Given the description of an element on the screen output the (x, y) to click on. 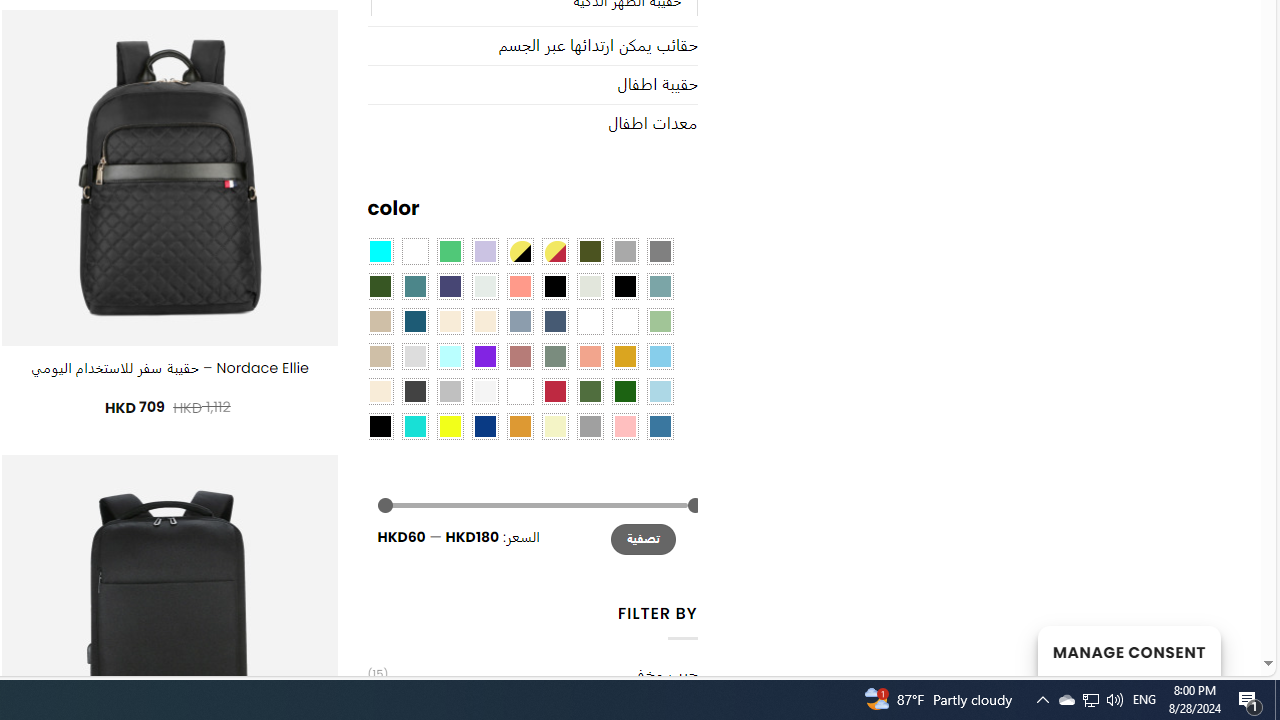
Brownie (379, 321)
All Black (554, 285)
Kelp (589, 321)
Blue Sage (659, 285)
Purple (484, 355)
Yellow-Red (554, 251)
Clear (414, 251)
Yellow-Black (519, 251)
